Given the description of an element on the screen output the (x, y) to click on. 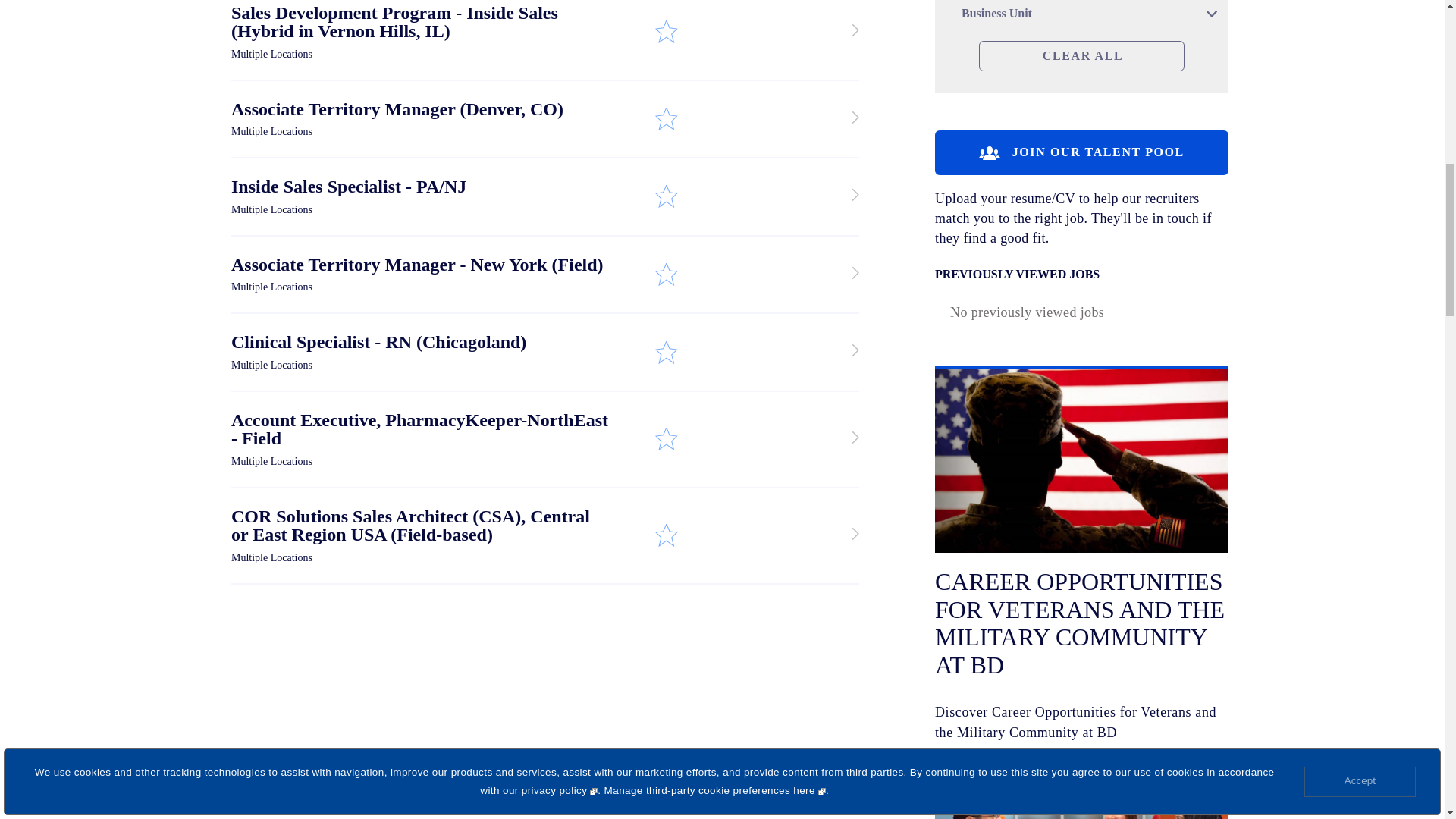
Save job icon (666, 439)
Save job icon (666, 352)
Save job icon (666, 195)
Save job icon (666, 274)
Save job icon (666, 119)
Save job icon (666, 31)
Save job icon (666, 535)
